Given the description of an element on the screen output the (x, y) to click on. 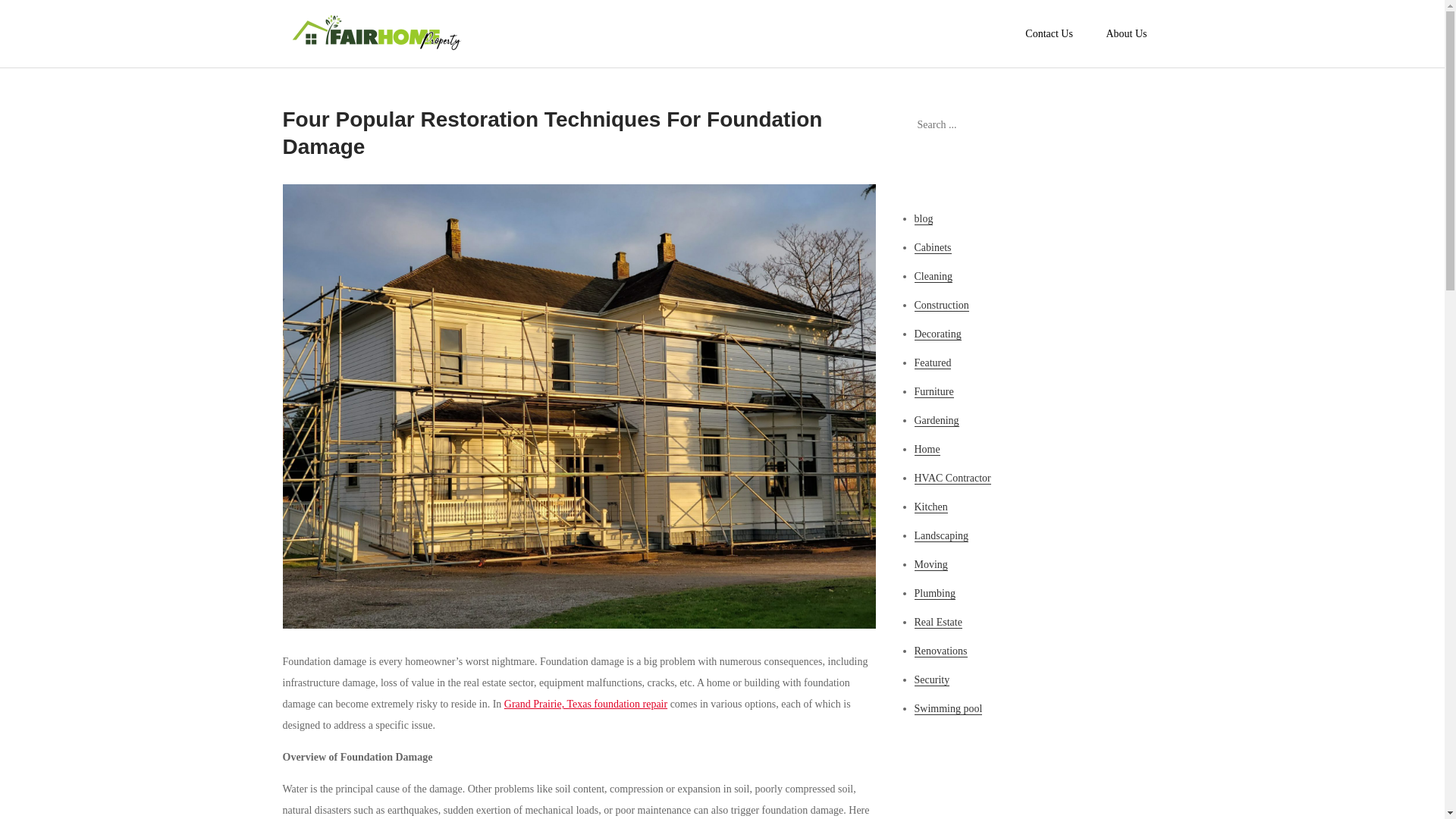
Renovations (941, 651)
Search (1142, 125)
Kitchen (930, 507)
Cleaning (933, 276)
Featured (933, 363)
Gardening (936, 420)
Construction (941, 305)
Plumbing (934, 593)
blog (923, 218)
About Us (1125, 33)
